Given the description of an element on the screen output the (x, y) to click on. 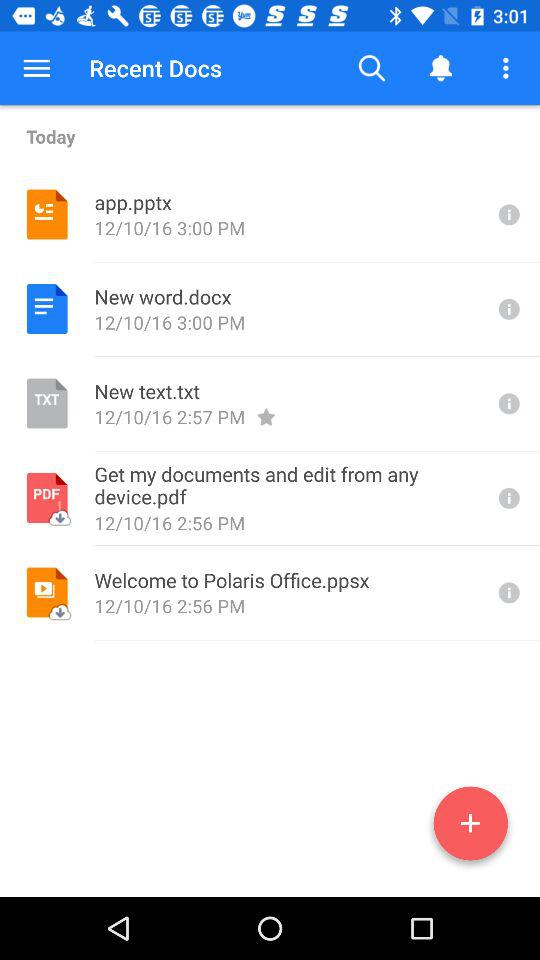
extra information of file (507, 214)
